Given the description of an element on the screen output the (x, y) to click on. 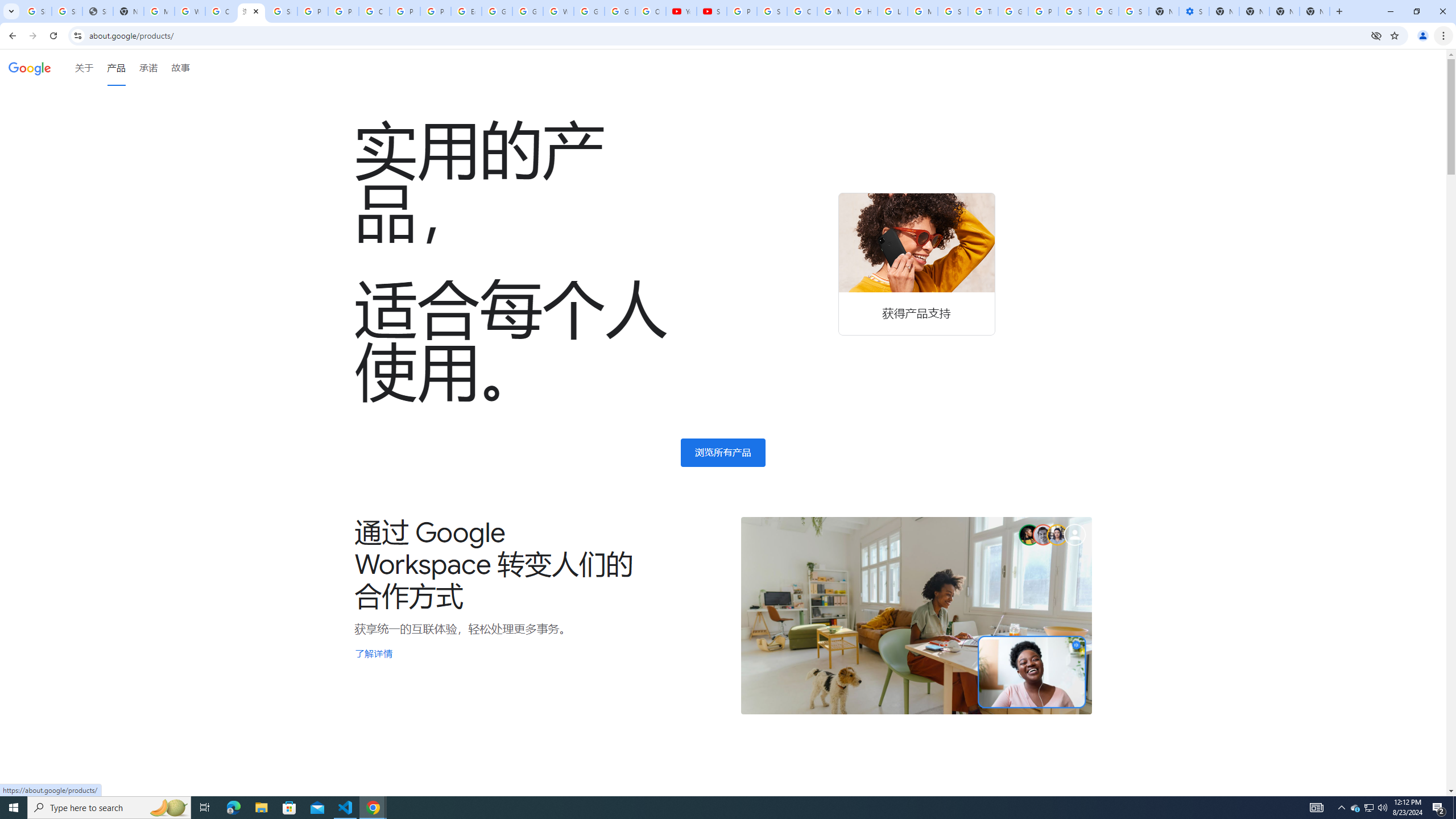
Welcome to My Activity (558, 11)
Google Ads - Sign in (1012, 11)
YouTube (681, 11)
Create your Google Account (373, 11)
Sign in - Google Accounts (282, 11)
Trusted Information and Content - Google Safety Center (982, 11)
